Given the description of an element on the screen output the (x, y) to click on. 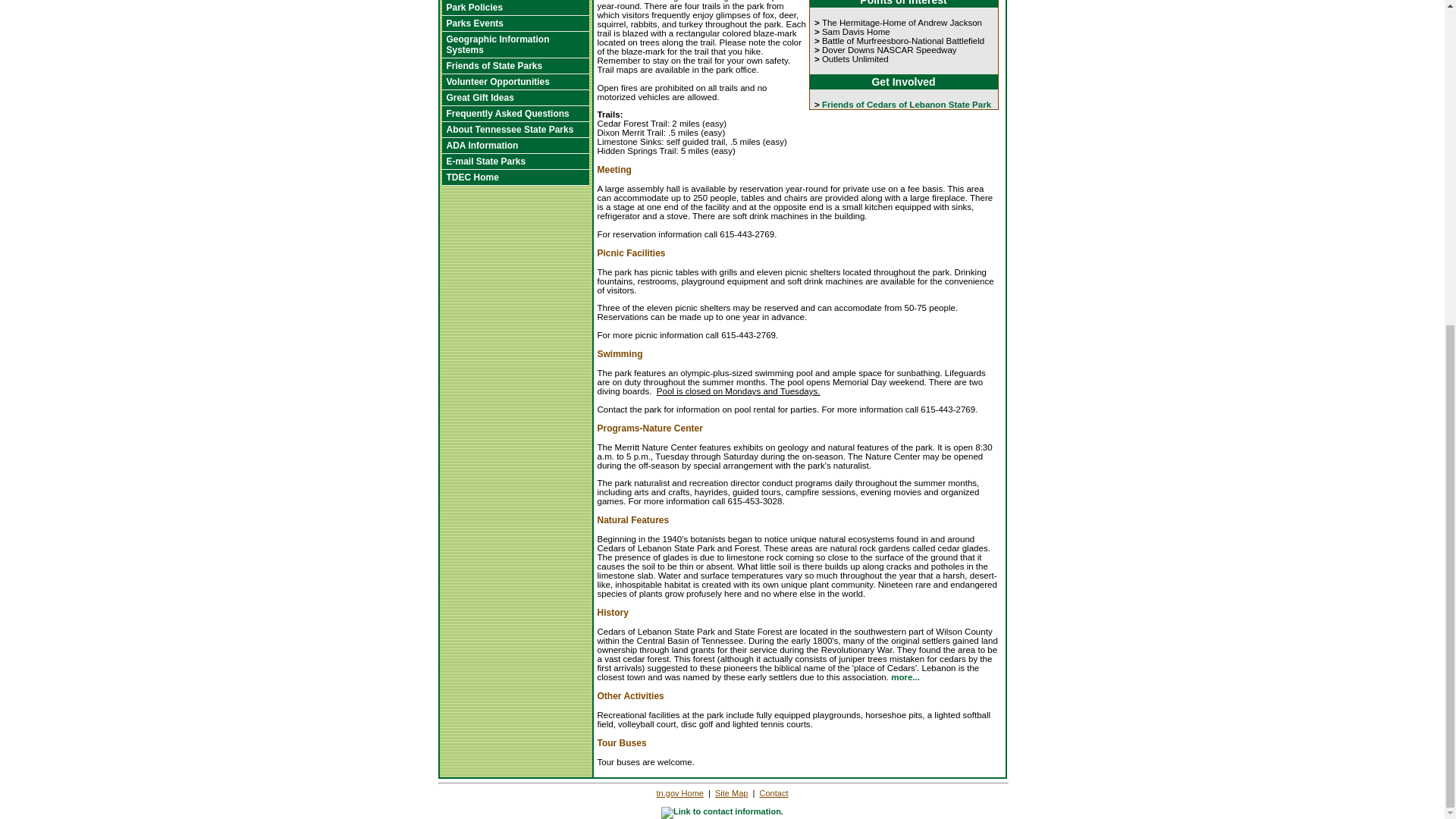
Park Policies (514, 7)
ADA Information (514, 145)
Parks Events (514, 23)
TDEC Home (514, 177)
Frequently Asked Questions (514, 114)
Volunteer Opportunities (514, 82)
About Tennessee State Parks (514, 130)
Parks Events (514, 23)
GIS (514, 44)
E-mail State Parks (514, 161)
Friends of State Parks (514, 66)
TDEC Home (514, 177)
Volunteer Opportunities (514, 82)
E-mail State Parks (514, 161)
Friends Groups (514, 66)
